Given the description of an element on the screen output the (x, y) to click on. 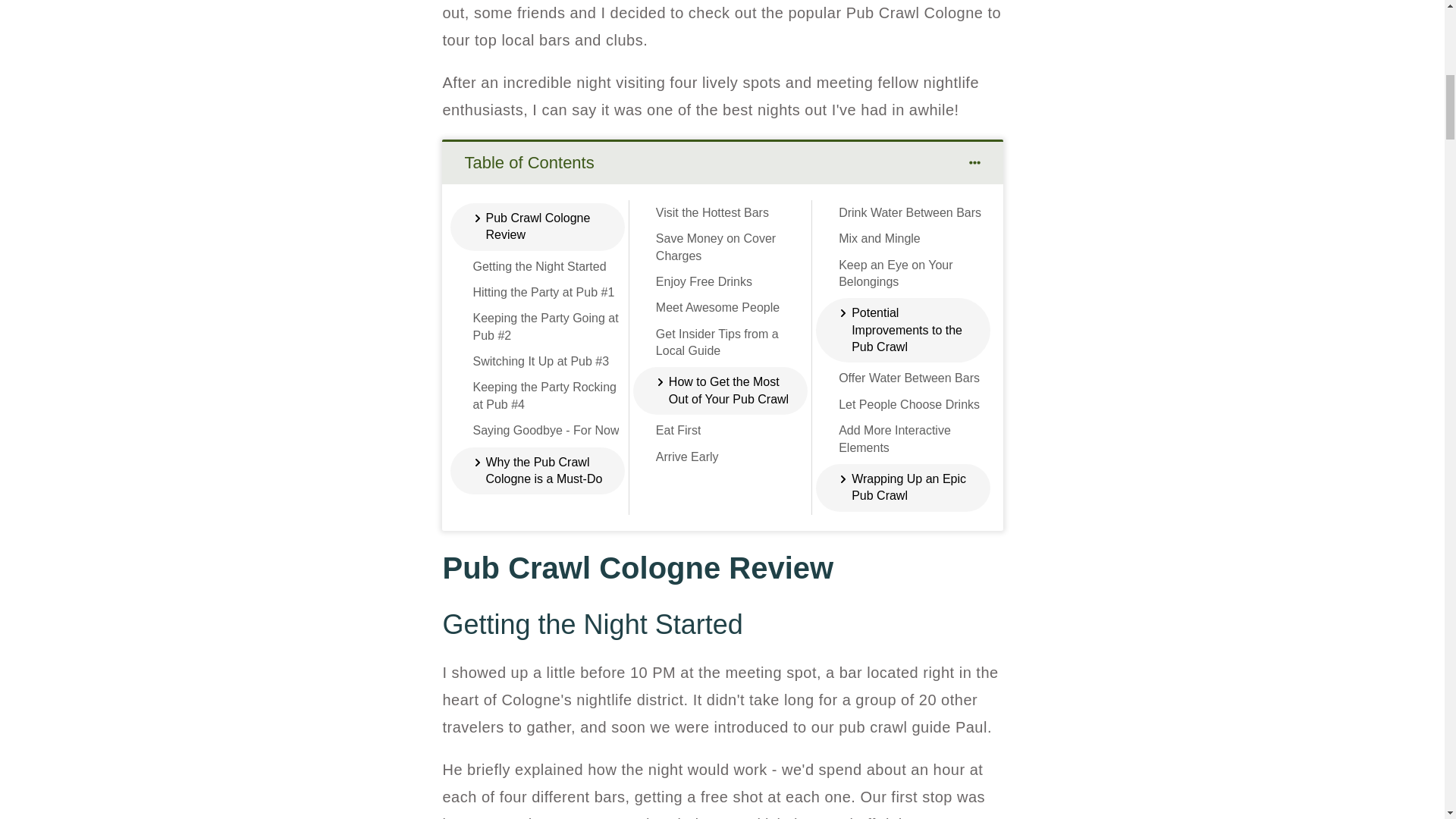
Arrive Early (687, 457)
Let People Choose Drinks (908, 404)
Saying Goodbye - For Now (546, 430)
Pub Crawl Cologne Review (544, 226)
Eat First (678, 430)
Drink Water Between Bars (909, 212)
Get Insider Tips from a Local Guide (732, 342)
Offer Water Between Bars (908, 378)
Save Money on Cover Charges (732, 247)
Visit the Hottest Bars (712, 212)
Keep an Eye on Your Belongings (914, 274)
Meet Awesome People (717, 307)
Why the Pub Crawl Cologne is a Must-Do (544, 471)
Add More Interactive Elements (914, 439)
Potential Improvements to the Pub Crawl (911, 329)
